Given the description of an element on the screen output the (x, y) to click on. 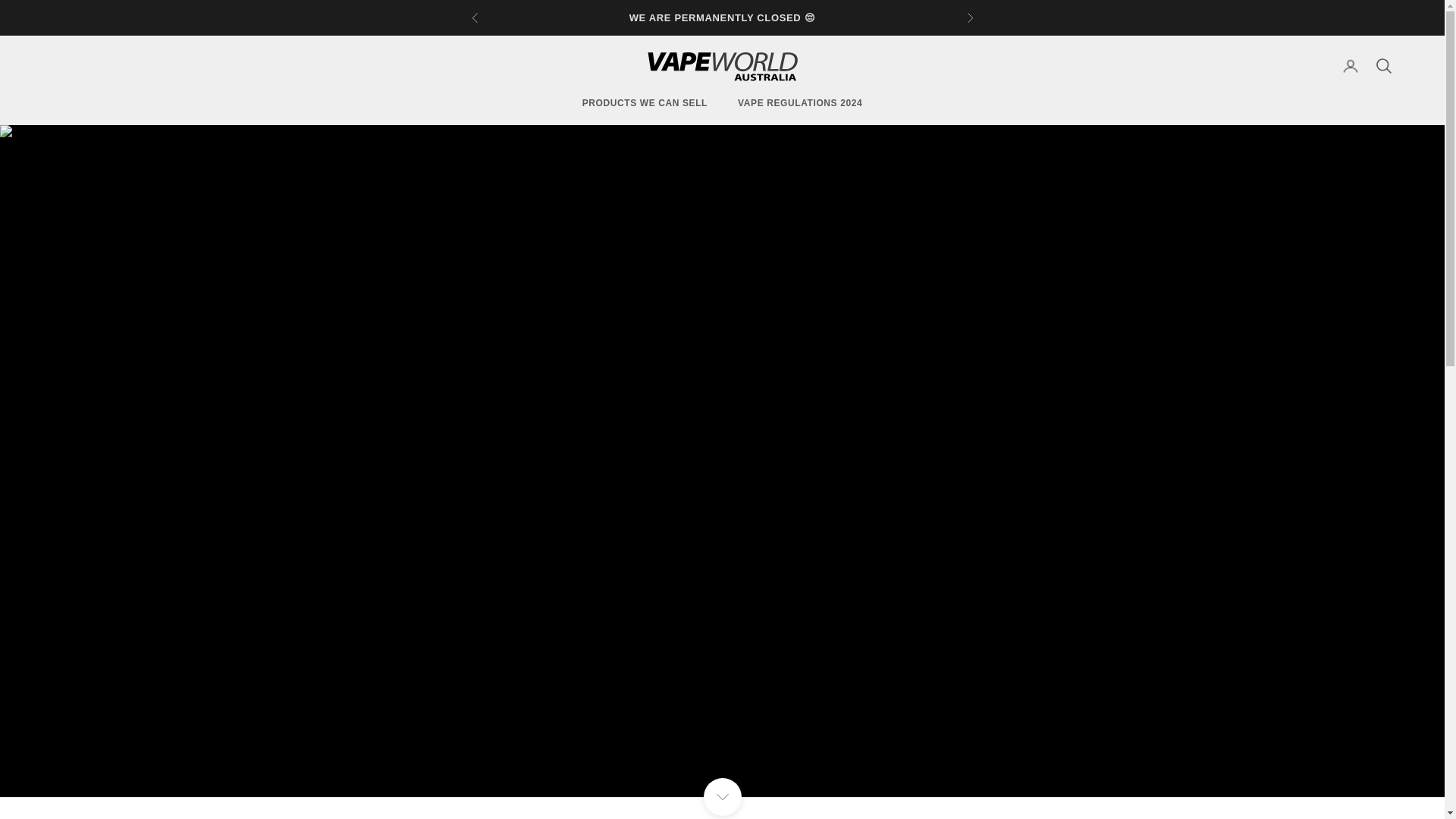
Open account page (1349, 65)
Account (1349, 65)
Search (1383, 65)
VAPE REGULATIONS 2024 (799, 102)
Open search (1383, 65)
Vape World Australia (721, 65)
Vape Regulations 2024 (799, 102)
Vape World Australia (721, 65)
Products we can sell (644, 102)
Navigate to next section (722, 796)
